Given the description of an element on the screen output the (x, y) to click on. 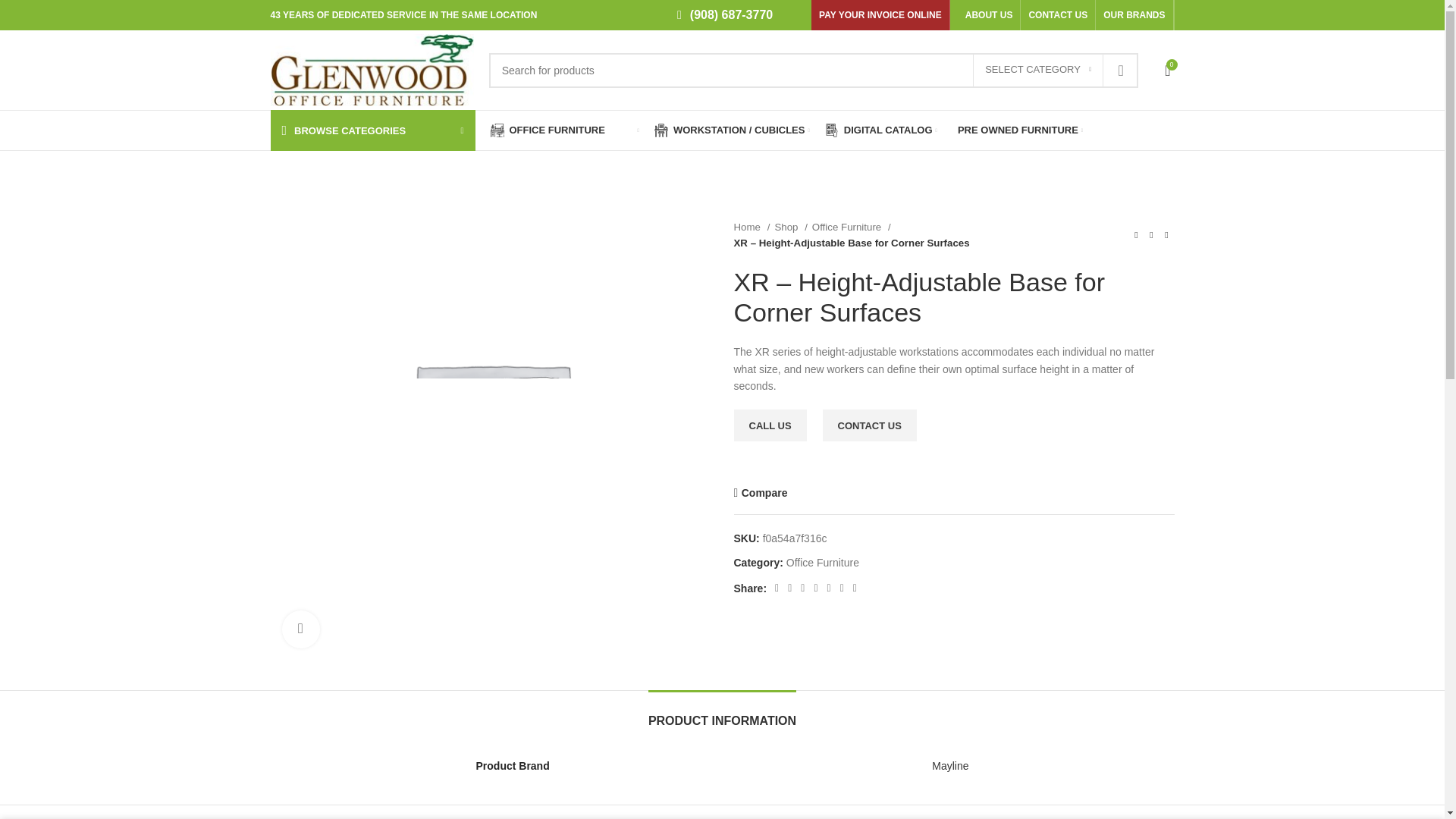
Search for products (813, 70)
SELECT CATEGORY (1037, 70)
PAY YOUR INVOICE ONLINE (880, 15)
CONTACT US (1057, 15)
OUR BRANDS (1133, 15)
SELECT CATEGORY (1037, 70)
ABOUT US (989, 15)
